Given the description of an element on the screen output the (x, y) to click on. 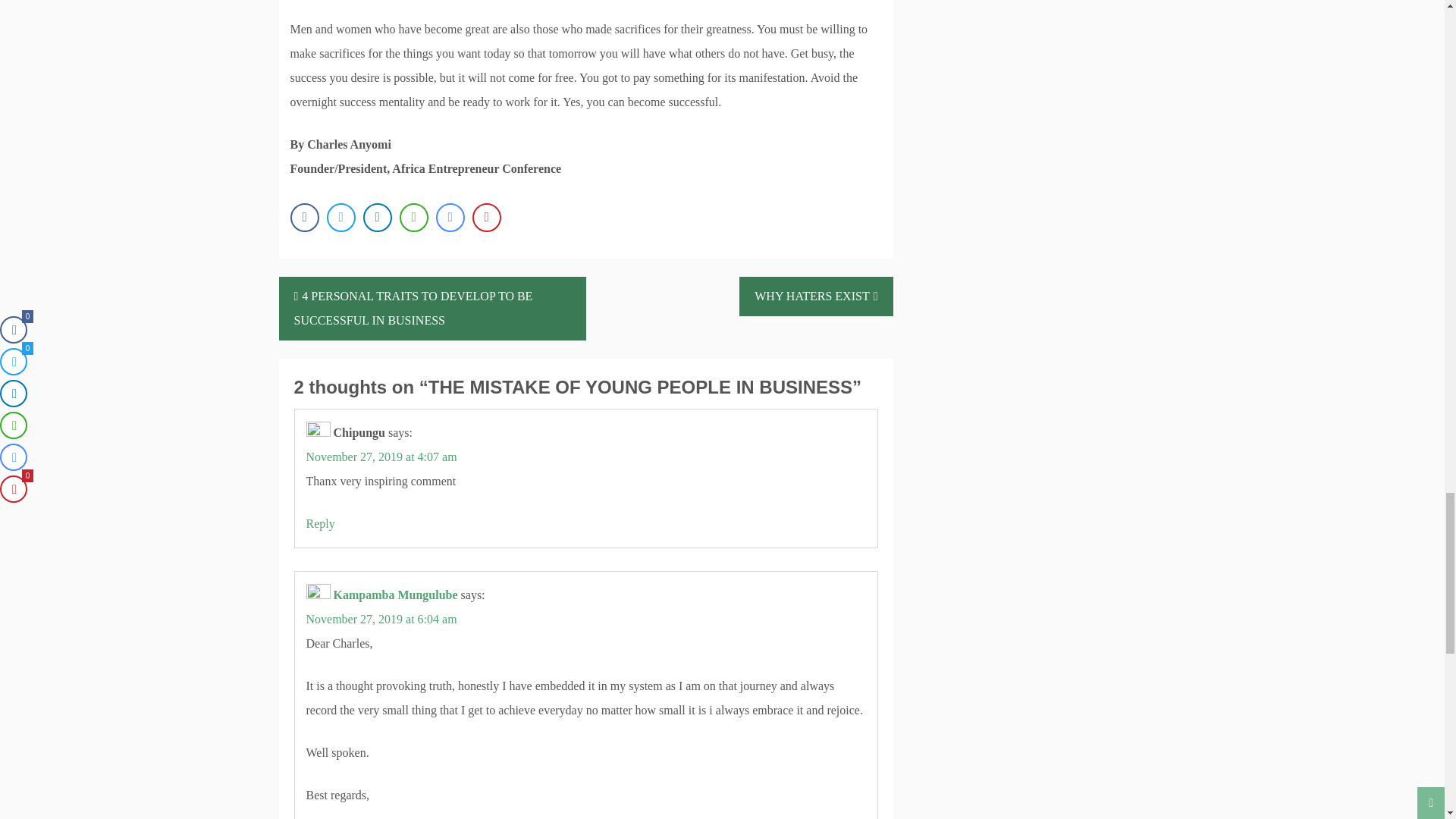
4 PERSONAL TRAITS TO DEVELOP TO BE SUCCESSFUL IN BUSINESS (432, 308)
WHY HATERS EXIST (815, 296)
Kampamba Mungulube (395, 594)
November 27, 2019 at 6:04 am (381, 618)
Reply (319, 522)
November 27, 2019 at 4:07 am (381, 456)
